Given the description of an element on the screen output the (x, y) to click on. 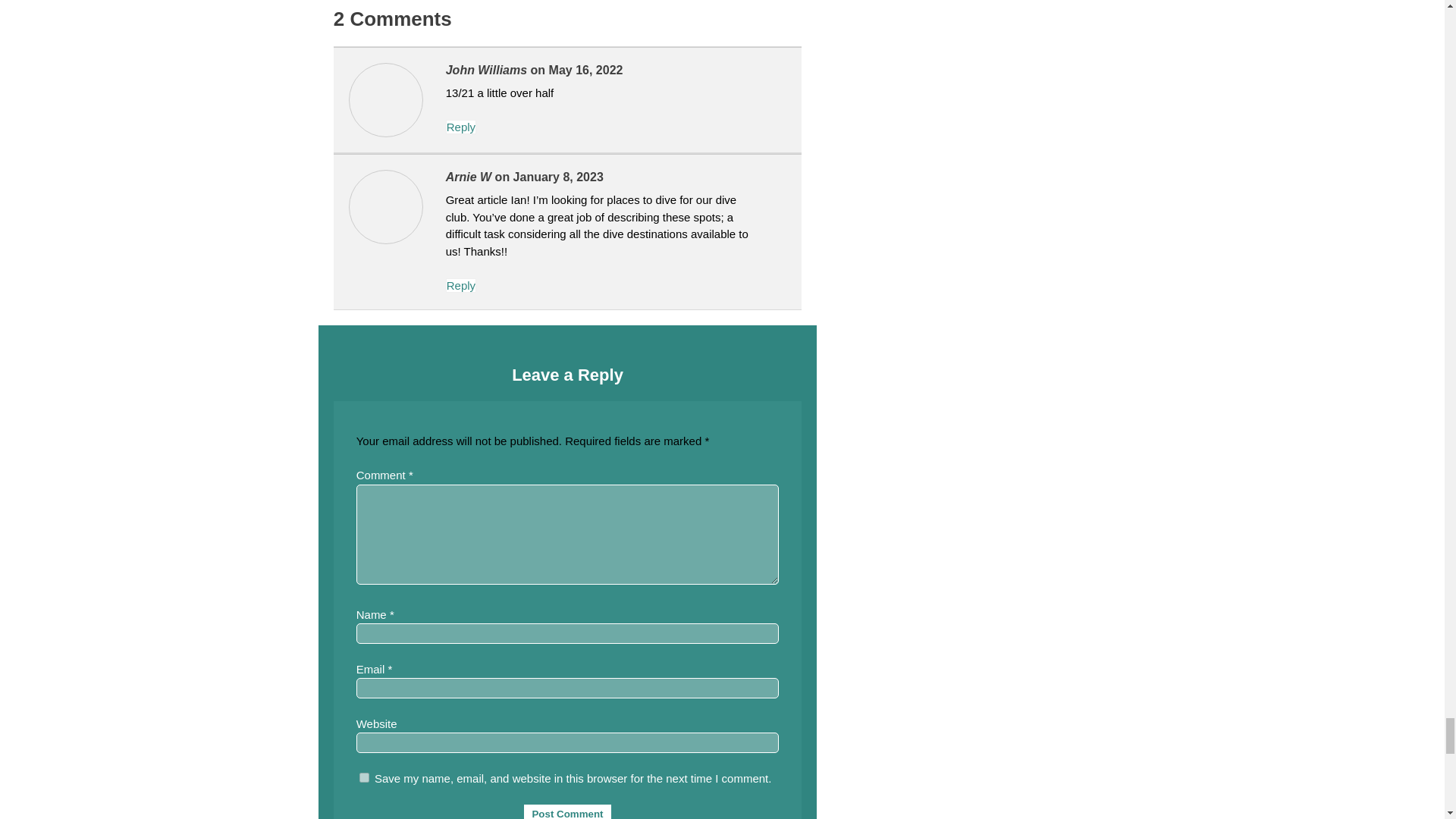
yes (364, 777)
Post Comment (567, 811)
May 16, 2022 (585, 69)
Reply (460, 126)
January 8, 2023 (558, 176)
Post Comment (567, 811)
Reply (460, 285)
